Given the description of an element on the screen output the (x, y) to click on. 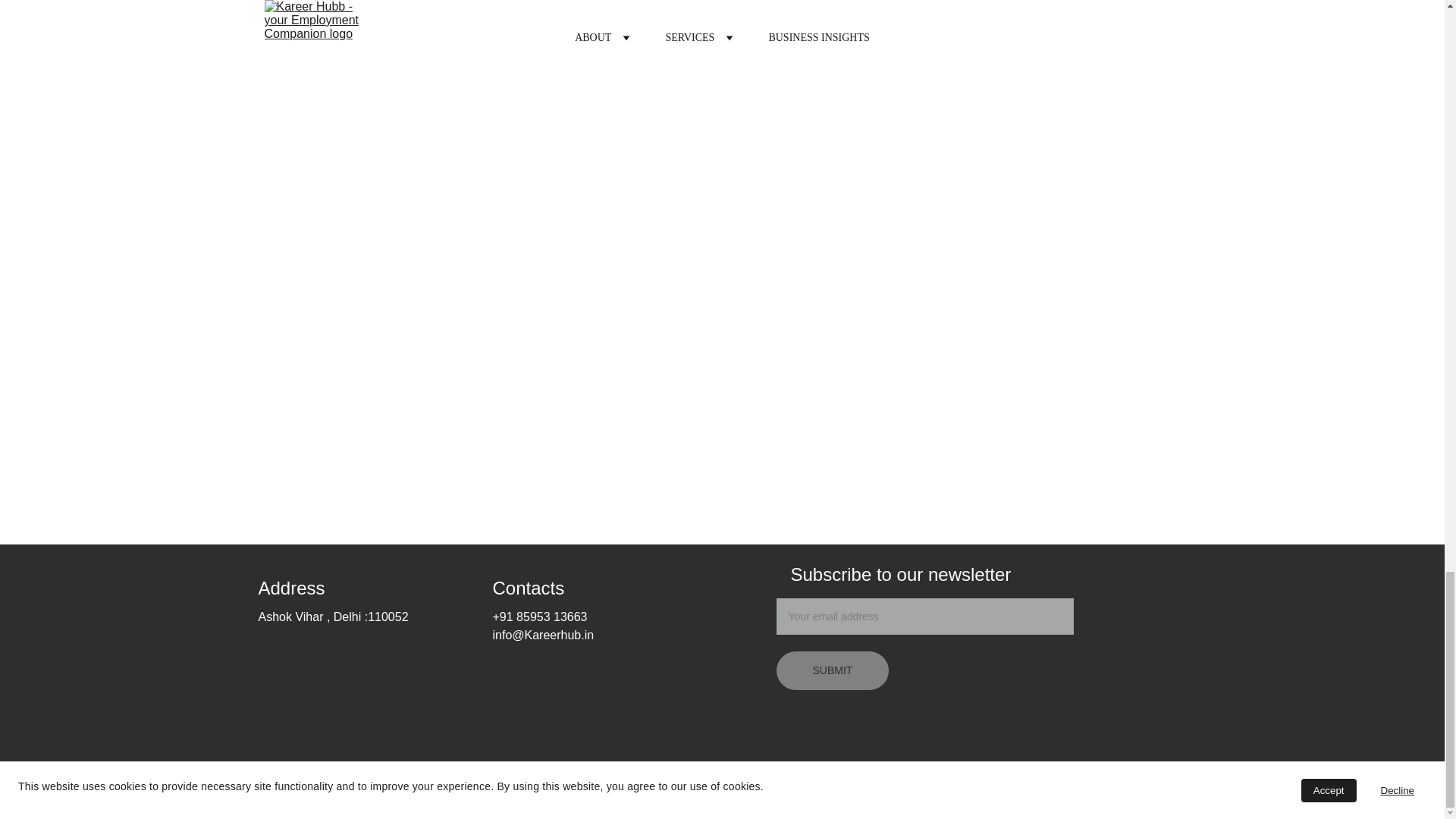
SUBMIT (832, 670)
